Given the description of an element on the screen output the (x, y) to click on. 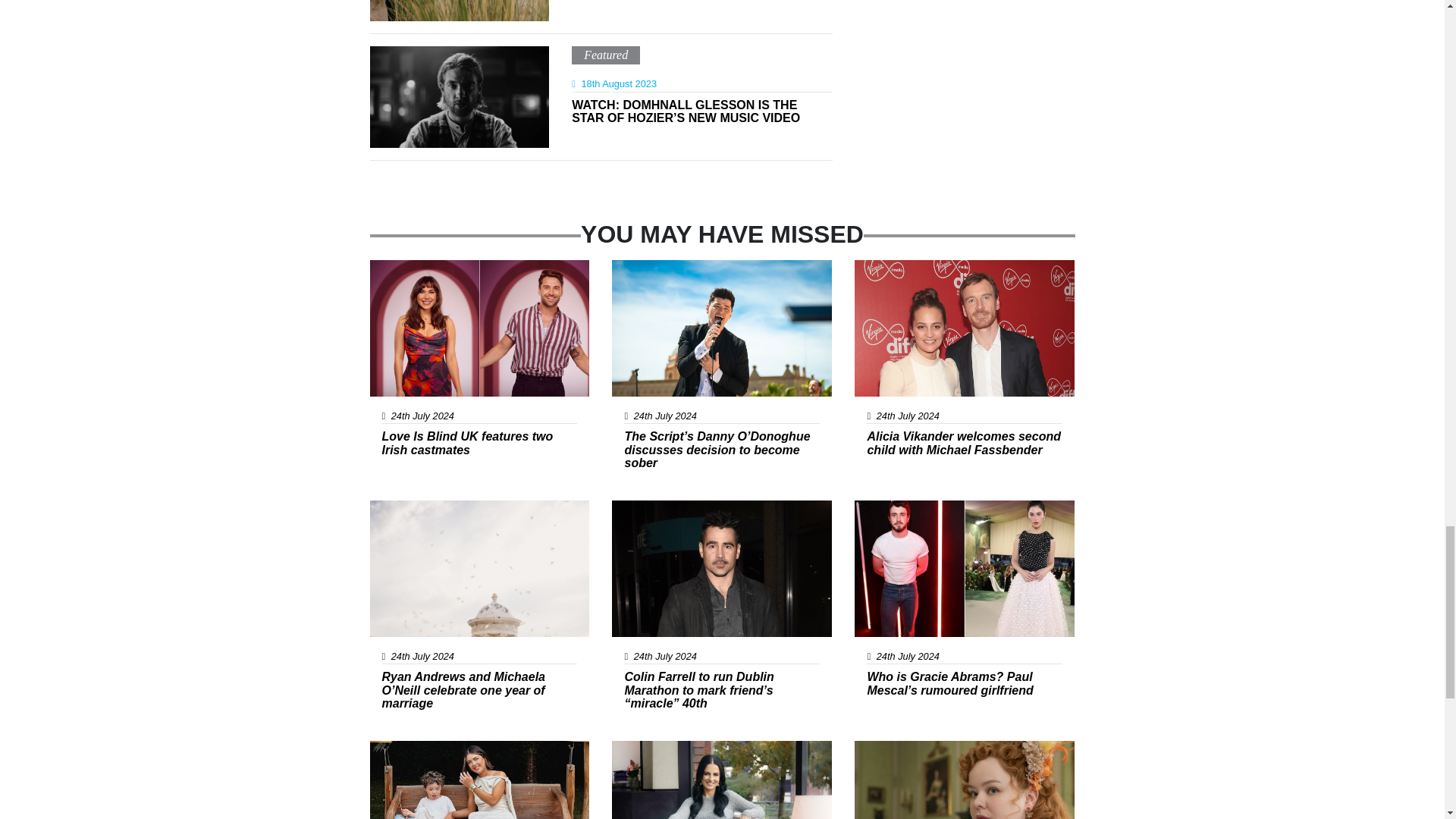
Featured (605, 54)
